Given the description of an element on the screen output the (x, y) to click on. 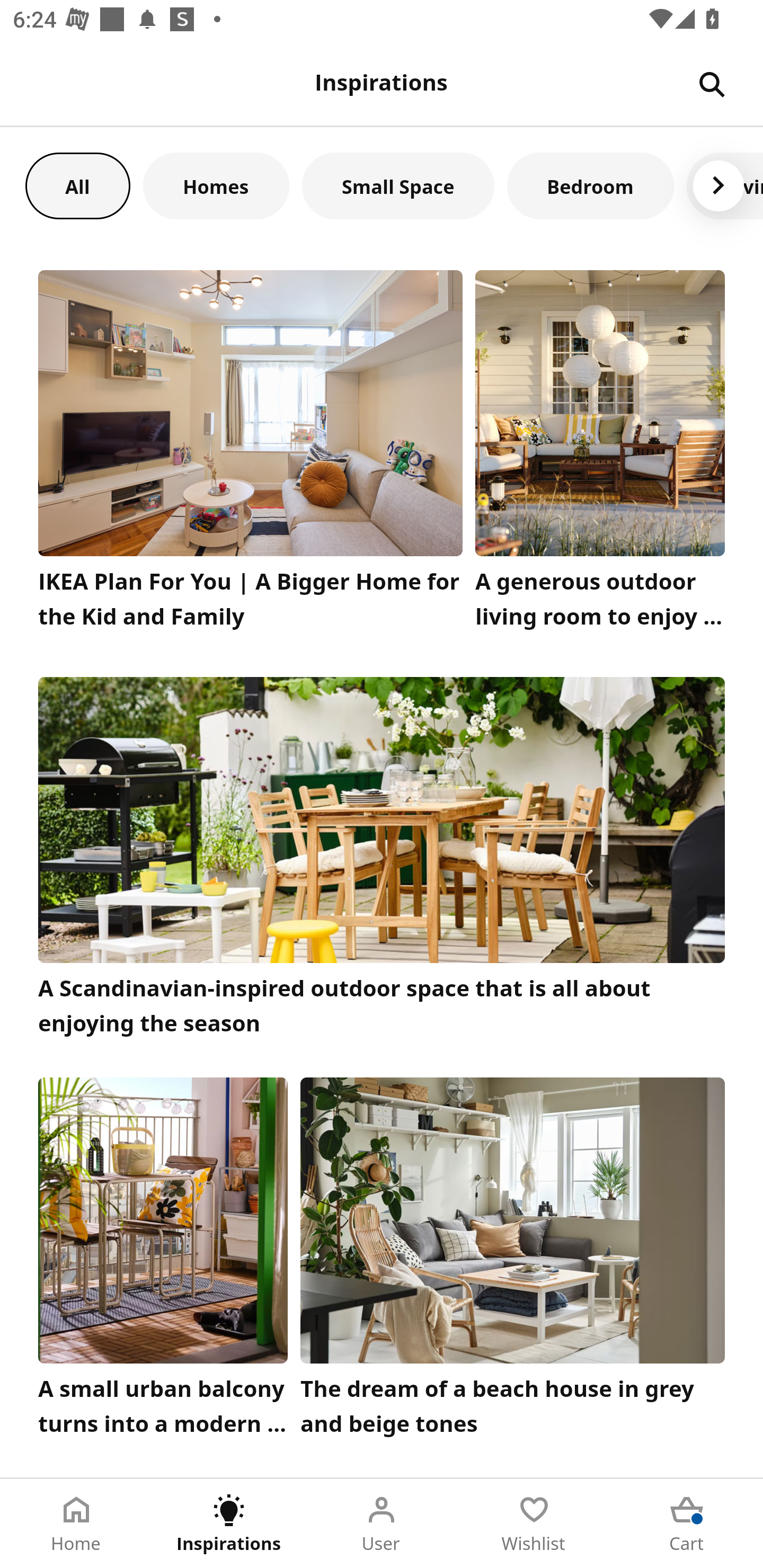
All (77, 185)
Homes (216, 185)
Small Space (398, 185)
Bedroom (590, 185)
The dream of a beach house in grey and beige tones (512, 1261)
Home
Tab 1 of 5 (76, 1522)
Inspirations
Tab 2 of 5 (228, 1522)
User
Tab 3 of 5 (381, 1522)
Wishlist
Tab 4 of 5 (533, 1522)
Cart
Tab 5 of 5 (686, 1522)
